Given the description of an element on the screen output the (x, y) to click on. 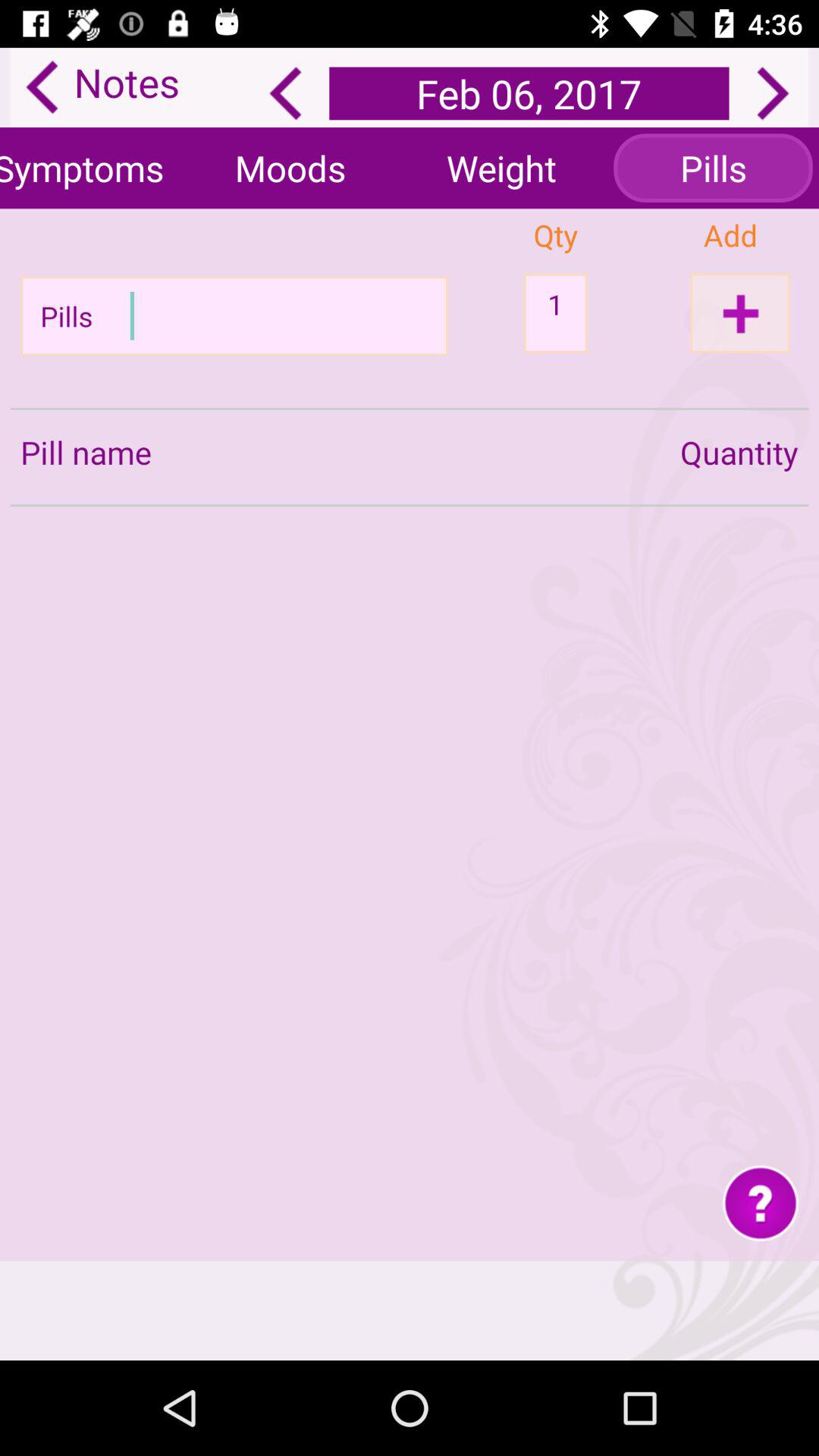
click the add option (739, 313)
